Given the description of an element on the screen output the (x, y) to click on. 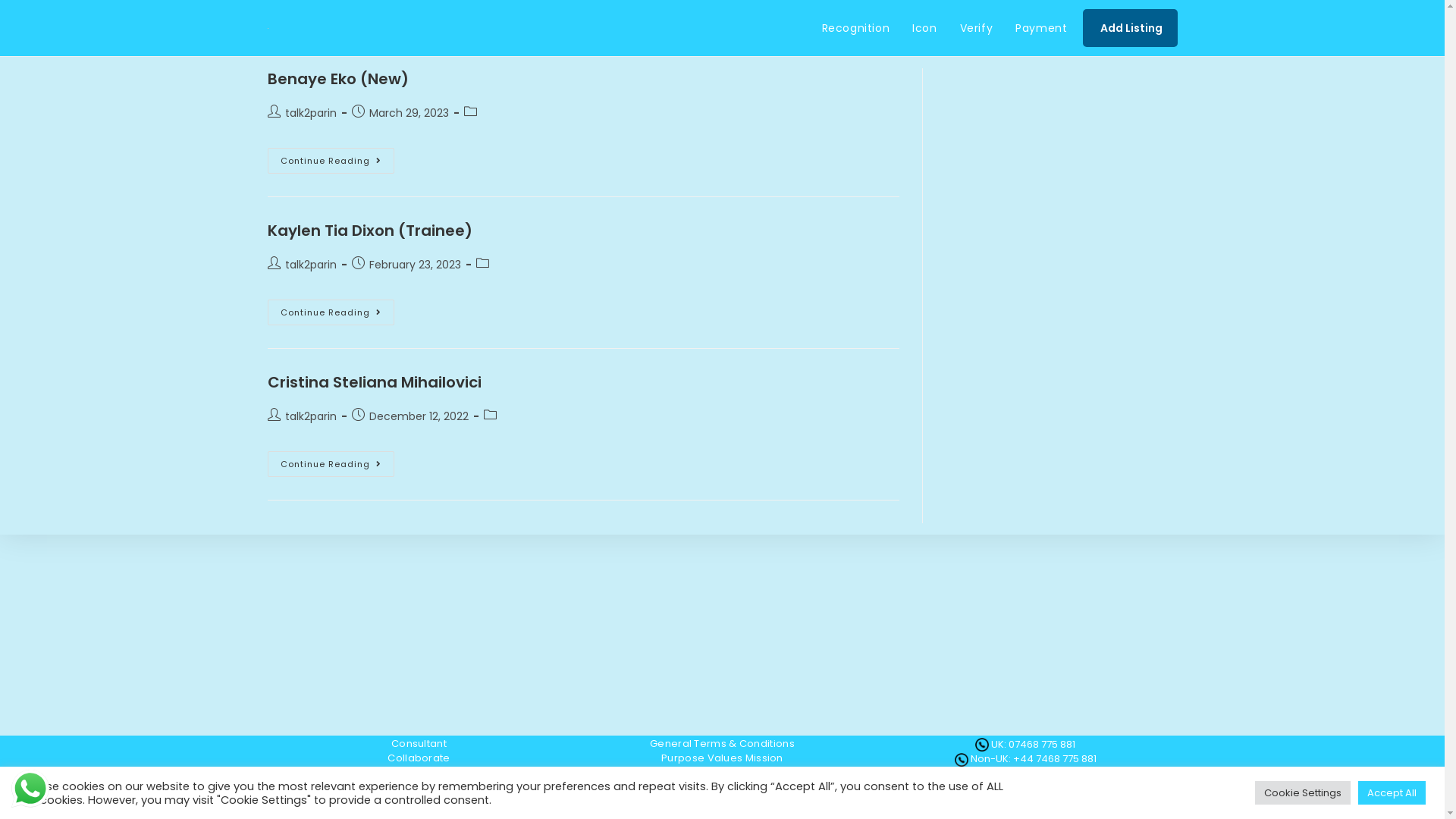
Recognition Element type: text (855, 28)
Education Directory Element type: text (721, 786)
Cookie Settings Element type: text (1302, 792)
07468 775 881 Element type: text (1041, 744)
Payment Element type: text (1041, 28)
Listen Element type: text (419, 772)
info@1planetonly.com Element type: text (1040, 773)
Ambassador Directory Element type: text (721, 772)
General Terms & Conditions Element type: text (721, 743)
talk2parin Element type: text (310, 264)
Cristina Steliana Mihailovici Element type: text (373, 381)
Benaye Eko (New) Element type: text (336, 78)
Kaylen Tia Dixon (Trainee) Element type: text (368, 230)
Purpose Values Mission Element type: text (721, 758)
WhatsApp us Element type: hover (30, 788)
Continue Reading
Cristina Steliana Mihailovici Element type: text (329, 463)
Policies Element type: text (419, 786)
Accept All Element type: text (1391, 792)
Follow Us: Element type: text (1011, 788)
Add Listing Element type: text (1129, 28)
Collaborate Element type: text (419, 758)
Email: Element type: text (970, 773)
UK: Element type: text (998, 744)
Continue Reading
Benaye Eko (New) Element type: text (329, 160)
Verify Element type: text (976, 28)
talk2parin Element type: text (310, 415)
Consultant Element type: text (419, 743)
Continue Reading
Kaylen Tia Dixon (Trainee) Element type: text (329, 312)
+44 7468 775 881 Element type: text (1054, 758)
Non-UK: Element type: text (990, 758)
Icon Element type: text (923, 28)
talk2parin Element type: text (310, 112)
